Given the description of an element on the screen output the (x, y) to click on. 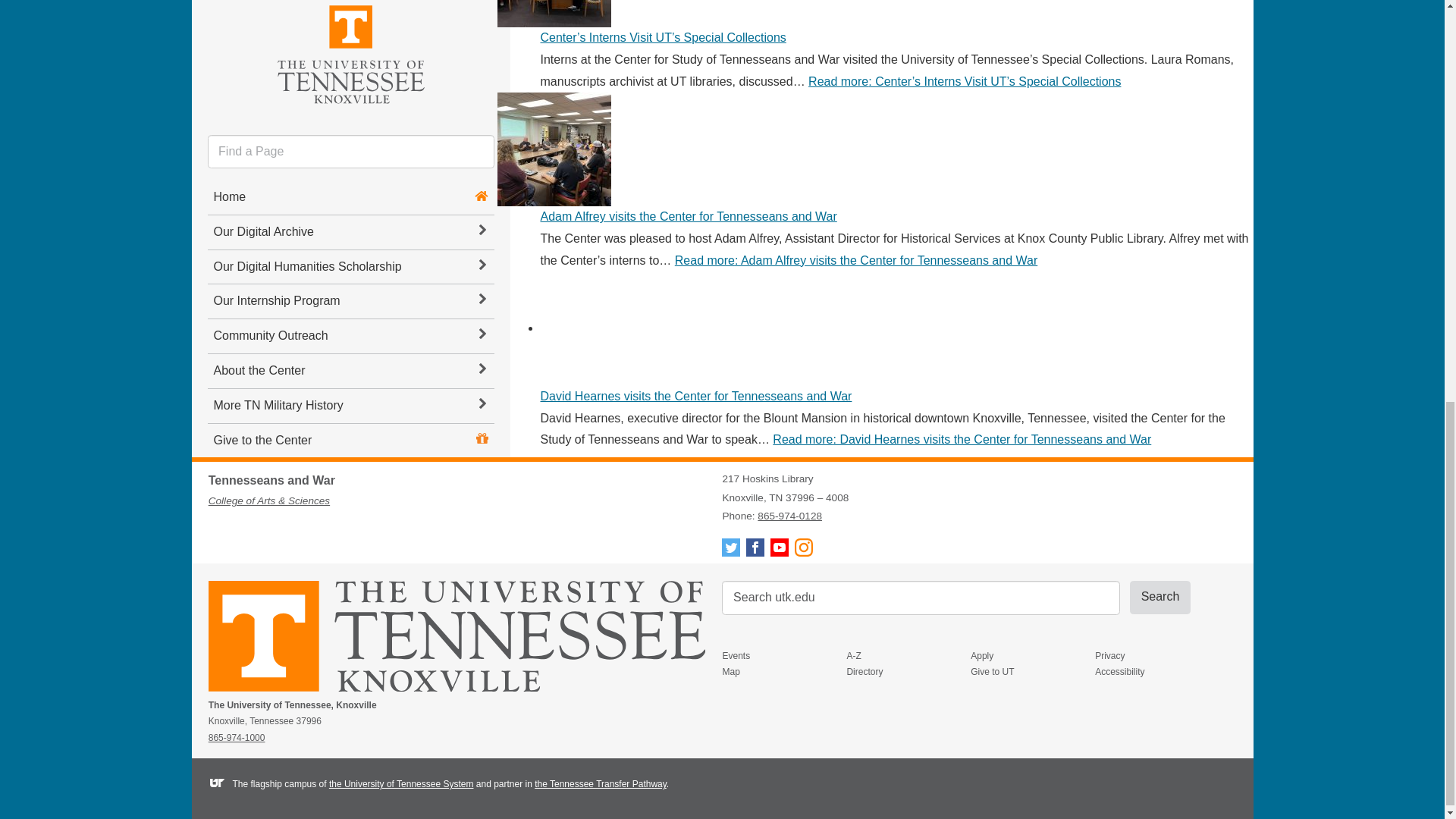
Search (1160, 597)
Submit (1160, 597)
Search utk.edu (920, 597)
search (920, 597)
